Given the description of an element on the screen output the (x, y) to click on. 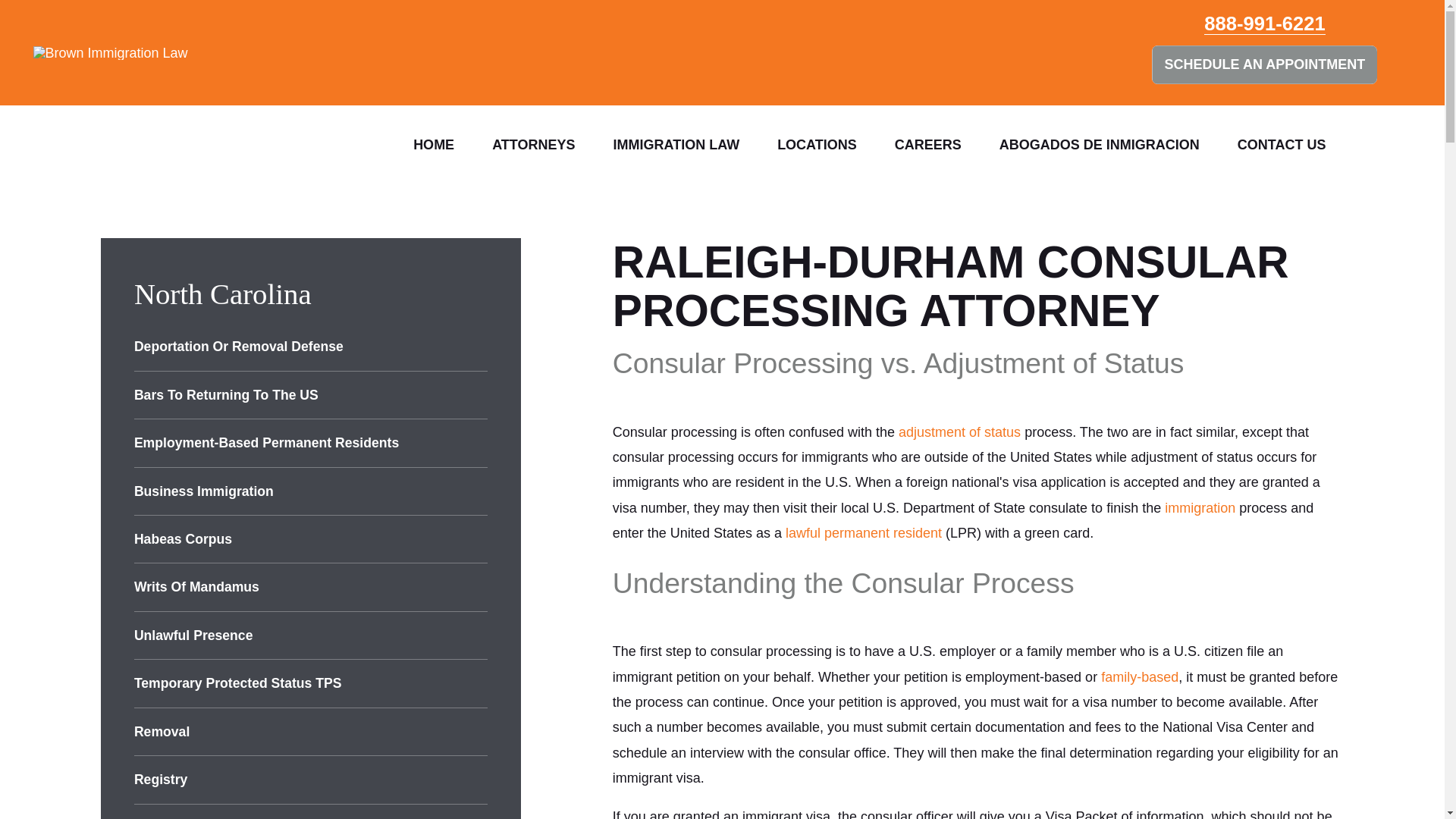
SCHEDULE AN APPOINTMENT (1264, 64)
Open child menu of Business Immigration (480, 490)
IMMIGRATION LAW (675, 144)
Open child menu of Removal (480, 731)
ATTORNEYS (533, 144)
Home (93, 52)
888-991-6221 (1264, 24)
LOCATIONS (817, 144)
